Given the description of an element on the screen output the (x, y) to click on. 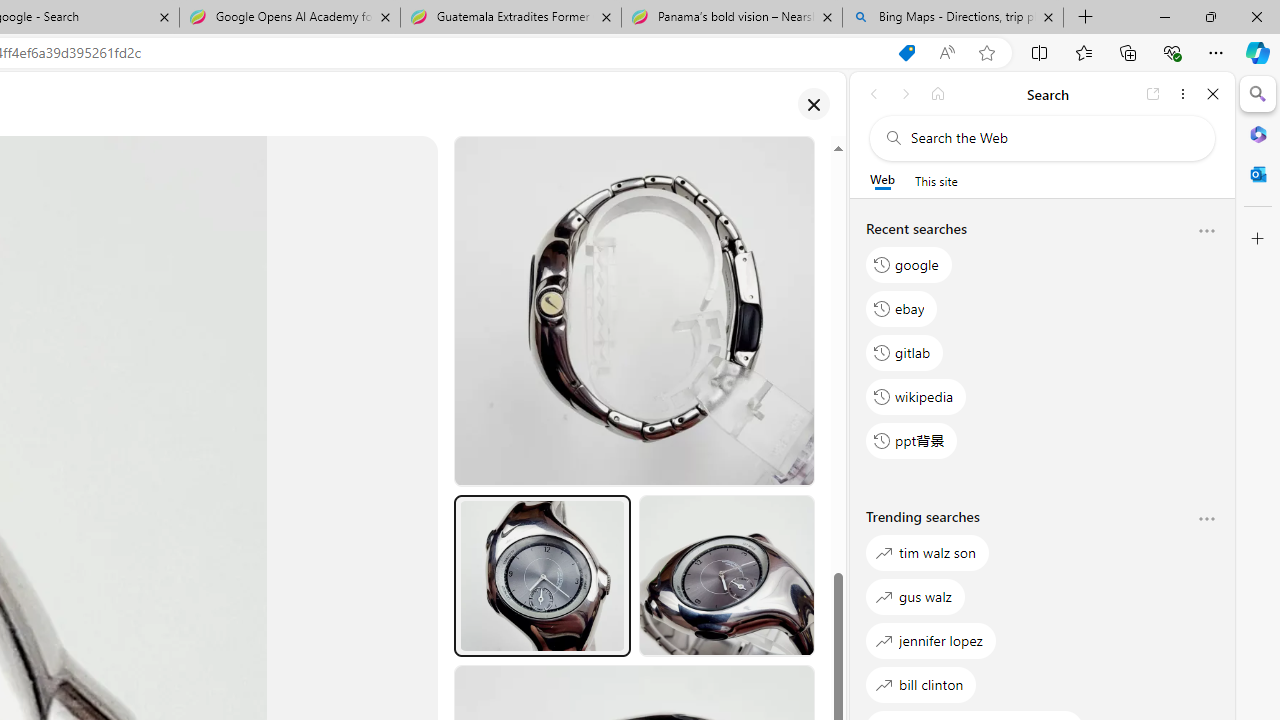
Search the web (1051, 137)
google (909, 264)
bill clinton (921, 684)
